Given the description of an element on the screen output the (x, y) to click on. 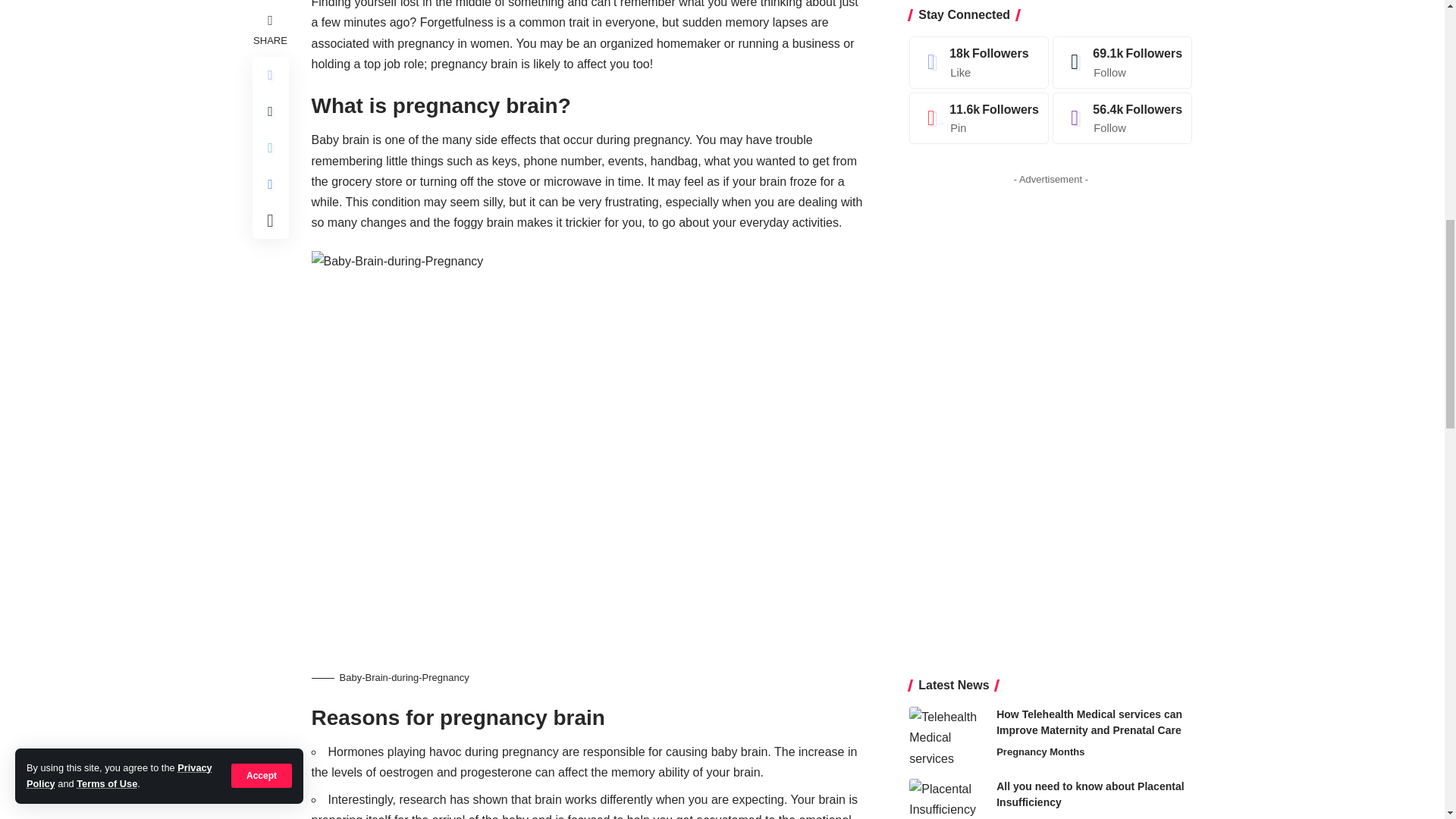
All you need to know about Placental Insufficiency (946, 274)
Melasma During Pregnancy: Symptoms, Causes, and Treatment (946, 346)
